Given the description of an element on the screen output the (x, y) to click on. 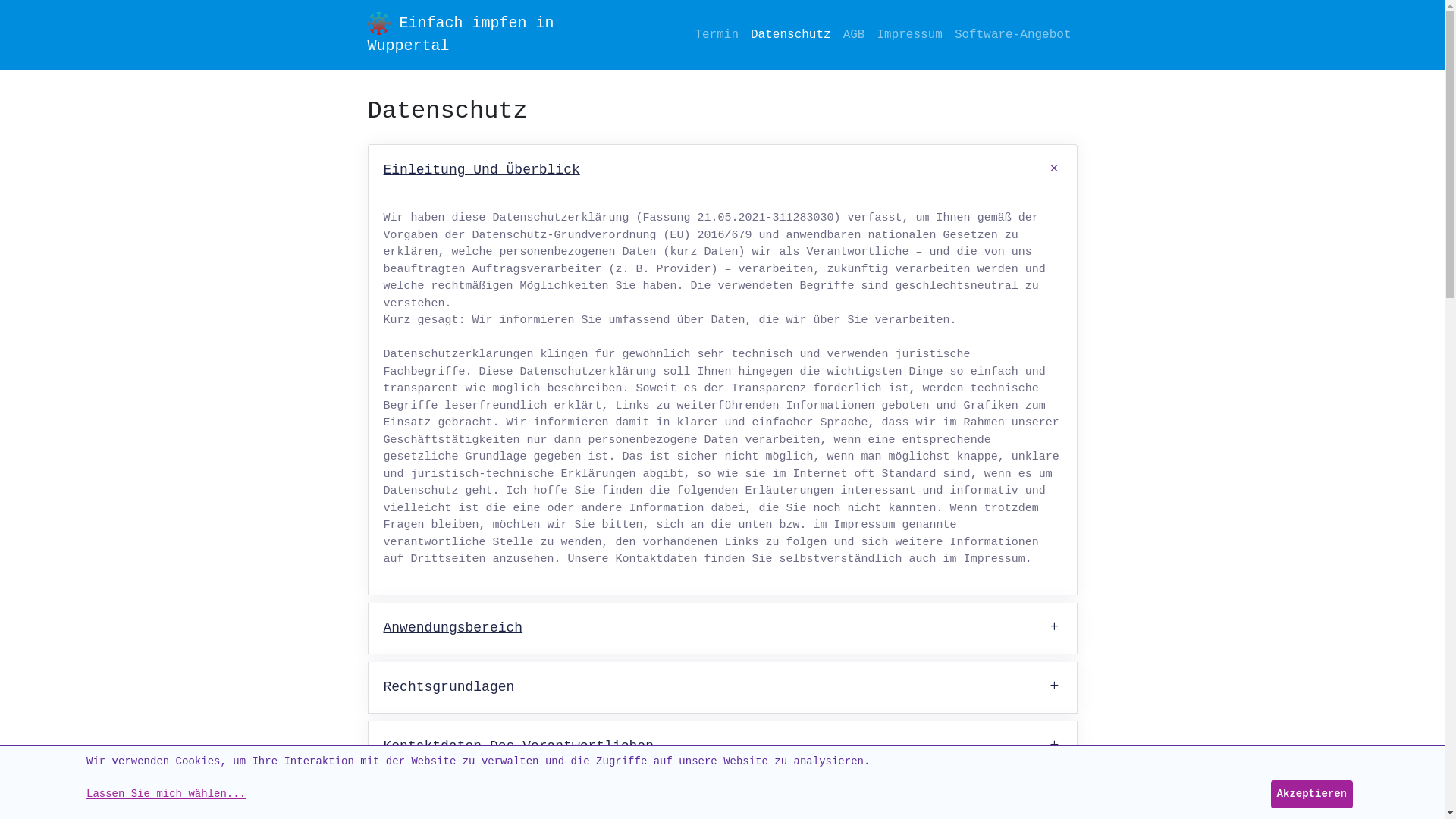
AGB Element type: text (854, 34)
Kontaktdaten Des Verantwortlichen Element type: text (722, 746)
Rechtsgrundlagen Element type: text (722, 687)
Anwendungsbereich Element type: text (722, 627)
Software-Angebot Element type: text (1012, 34)
Impressum Element type: text (908, 34)
Einfach impfen in Wuppertal Element type: text (480, 34)
Akzeptieren Element type: text (1311, 794)
Datenschutz Element type: text (790, 34)
Termin Element type: text (716, 34)
